Given the description of an element on the screen output the (x, y) to click on. 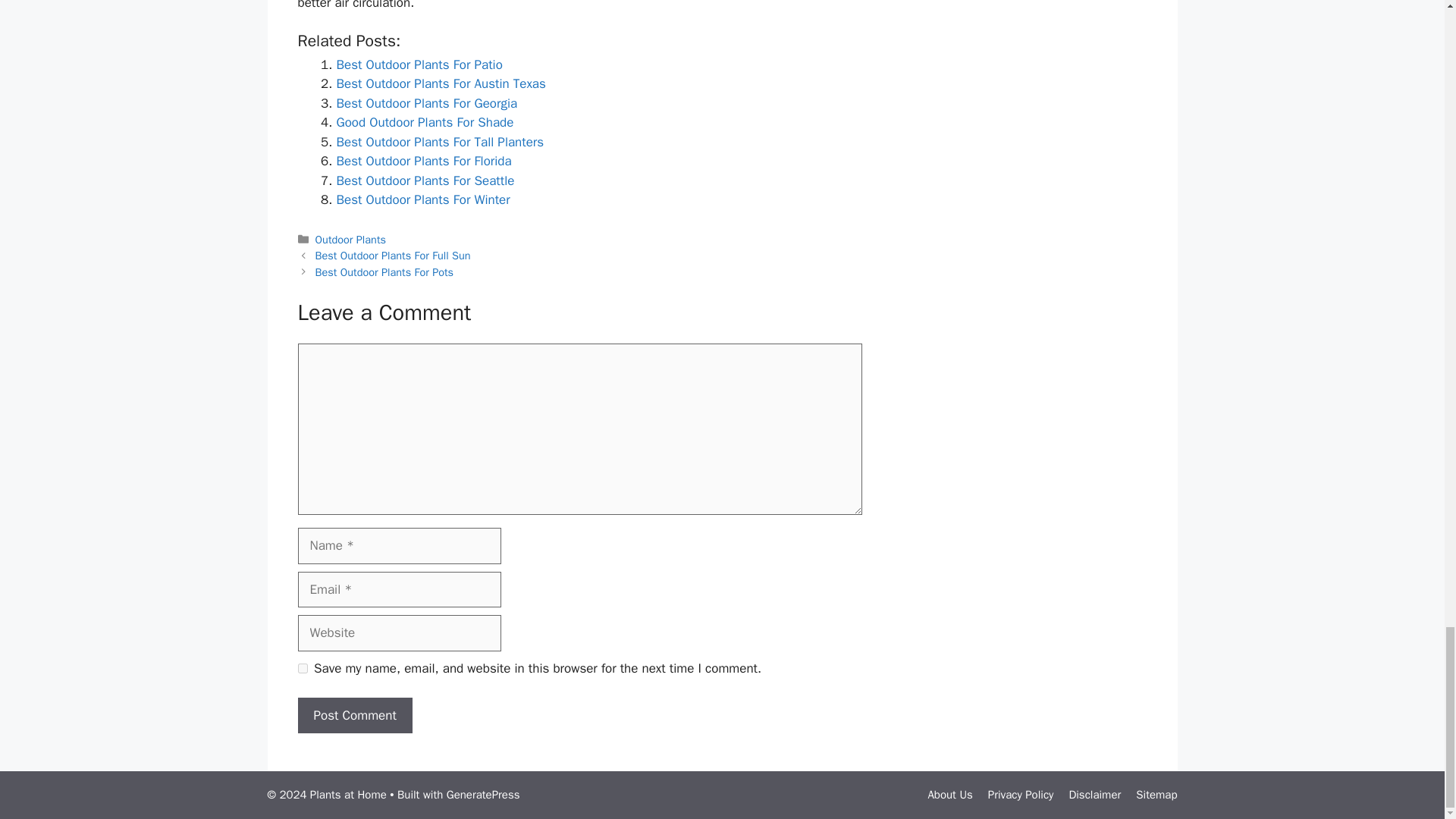
Best Outdoor Plants For Winter (423, 199)
Best Outdoor Plants For Austin Texas (441, 83)
Best Outdoor Plants For Patio (419, 64)
Best Outdoor Plants For Winter (423, 199)
Best Outdoor Plants For Austin Texas (441, 83)
Post Comment (354, 715)
Best Outdoor Plants For Tall Planters (440, 141)
Best Outdoor Plants For Pots (384, 272)
Best Outdoor Plants For Seattle (425, 180)
yes (302, 668)
Best Outdoor Plants For Florida (424, 160)
Post Comment (354, 715)
Good Outdoor Plants For Shade (424, 122)
Best Outdoor Plants For Tall Planters (440, 141)
Best Outdoor Plants For Full Sun (392, 255)
